Given the description of an element on the screen output the (x, y) to click on. 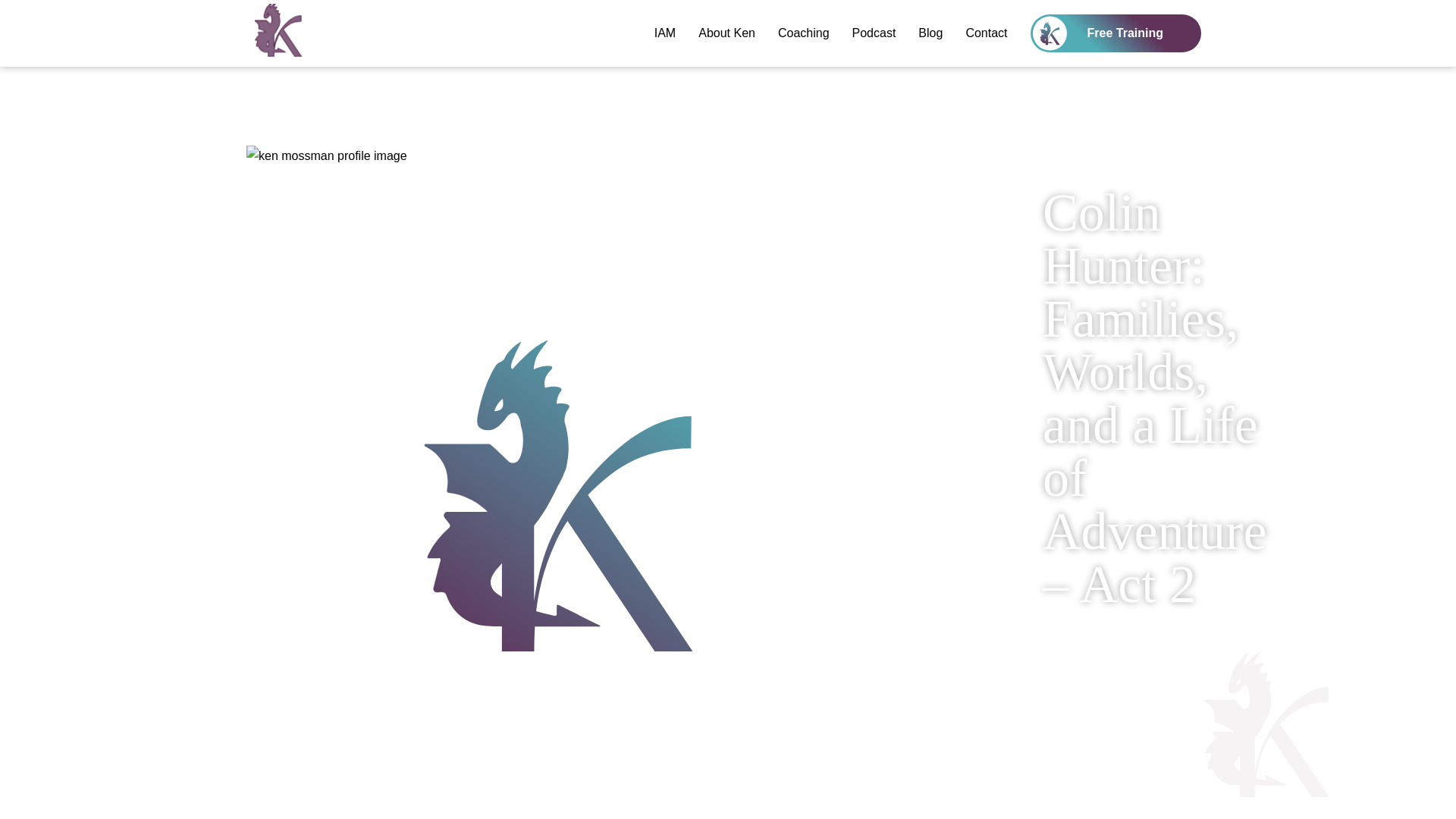
Contact (985, 33)
Free Training (1115, 33)
Podcast (874, 33)
Coaching (804, 33)
Ken Mossman logo (367, 29)
About Ken (727, 33)
